Given the description of an element on the screen output the (x, y) to click on. 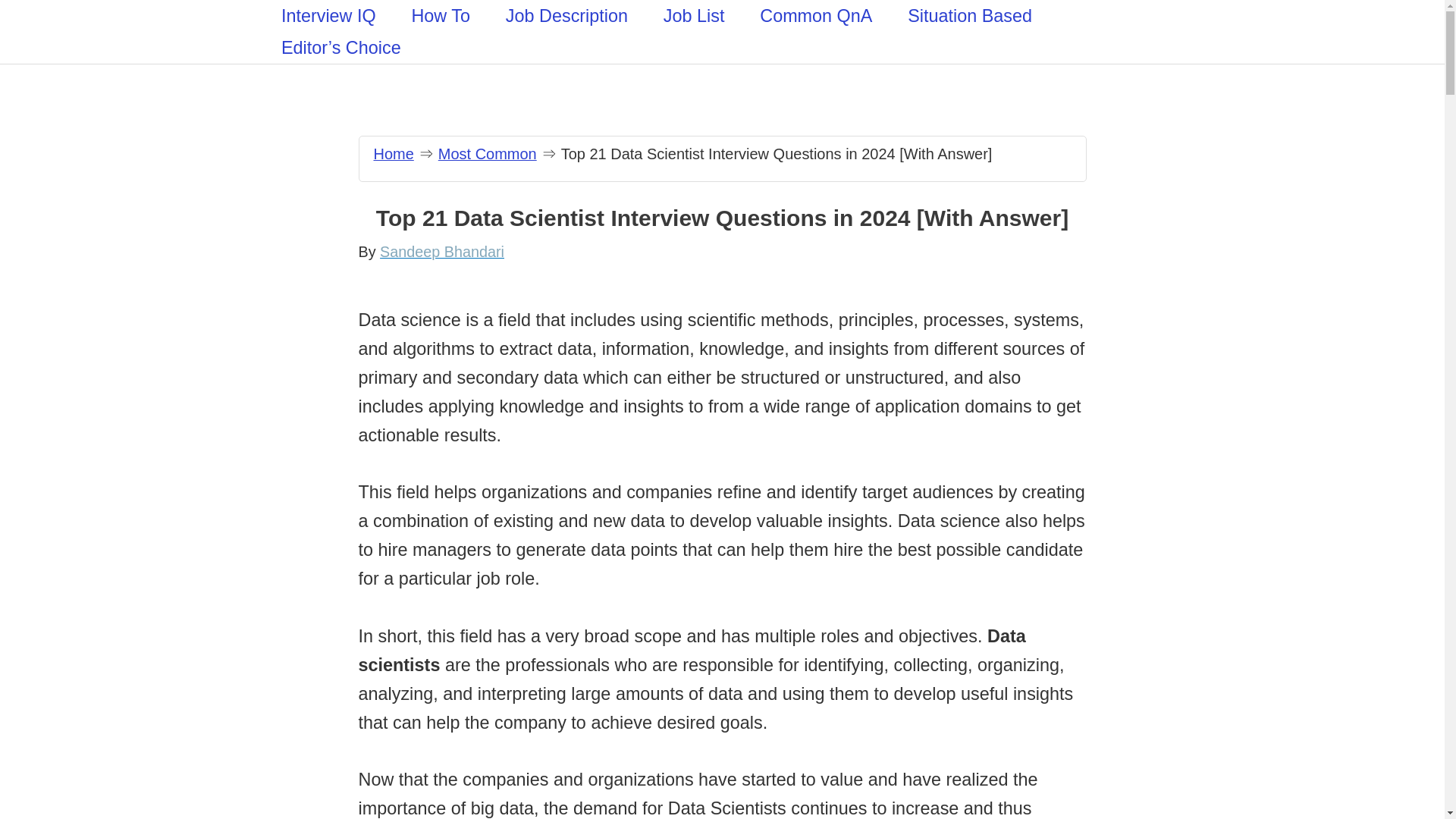
How To (440, 15)
Situation Based (969, 15)
Most Common (487, 153)
Sandeep Bhandari (441, 251)
Home (392, 153)
Job Description (566, 15)
Job List (693, 15)
View all posts by Sandeep Bhandari (441, 251)
Interview IQ (328, 15)
Common QnA (815, 15)
